Given the description of an element on the screen output the (x, y) to click on. 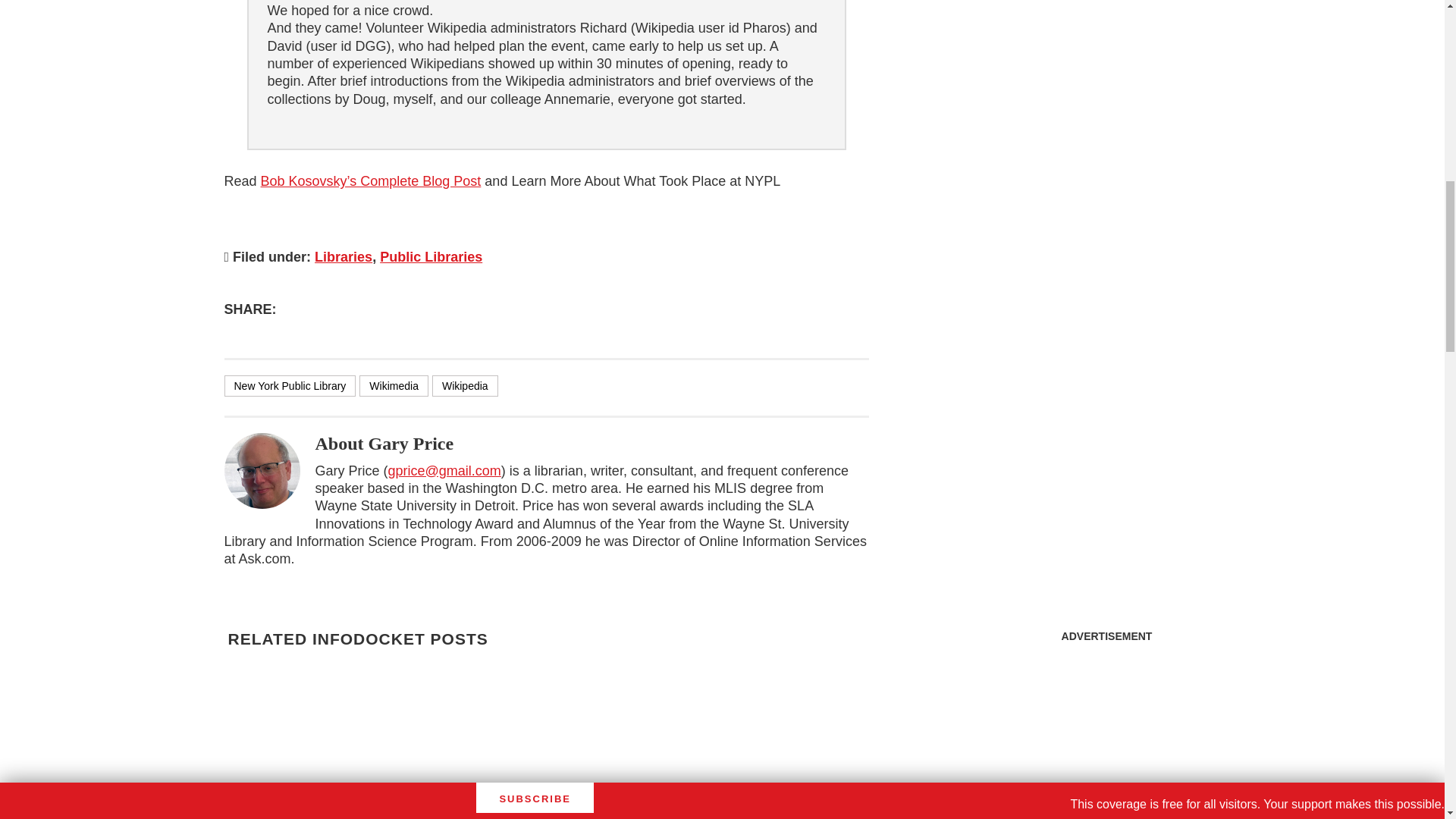
3rd party ad content (1106, 734)
3rd party ad content (1106, 91)
